Given the description of an element on the screen output the (x, y) to click on. 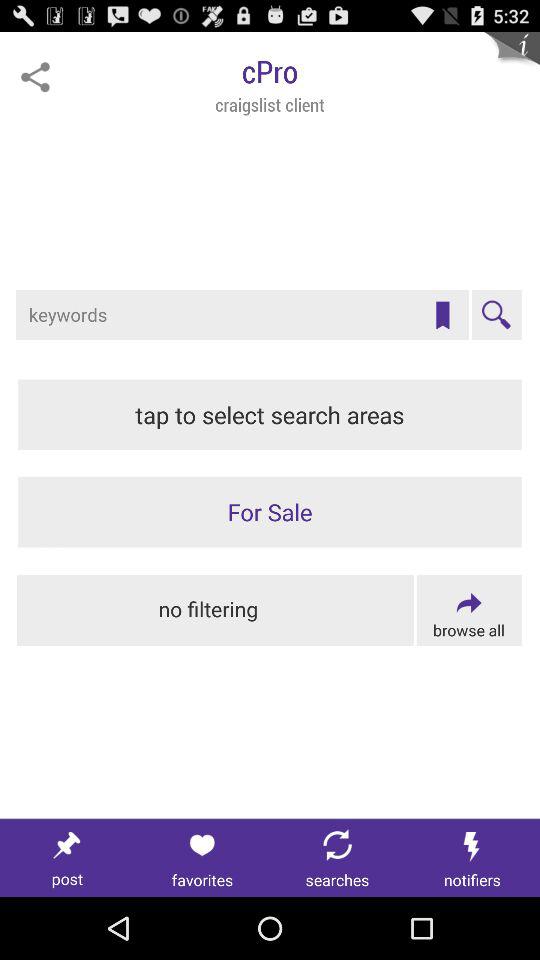
select for sale listings (269, 511)
